Given the description of an element on the screen output the (x, y) to click on. 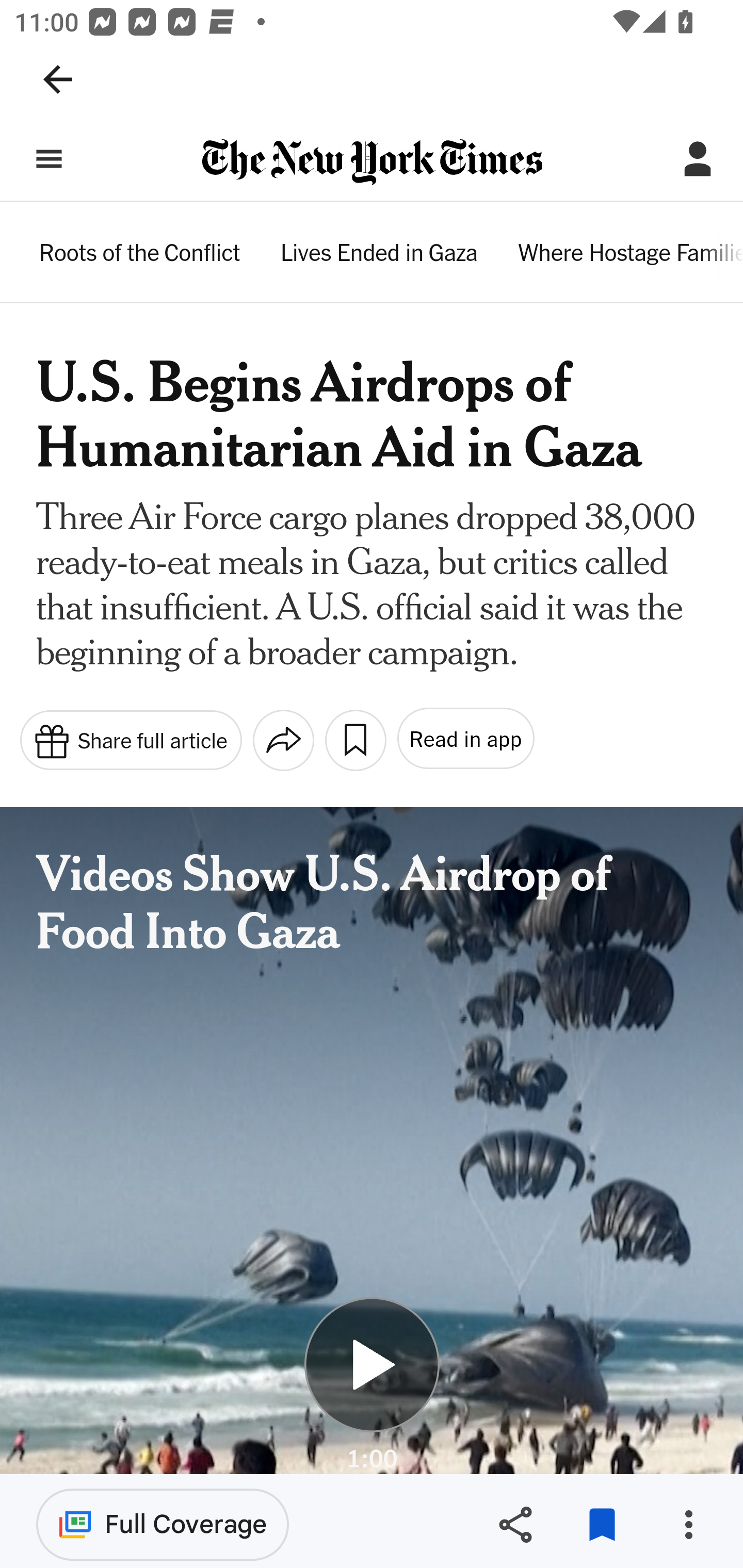
Navigate up (57, 79)
SEARCH & SECTION NAVIGATION (48, 159)
Log in (697, 159)
New York Times homepage (371, 162)
Roots of the Conflict (139, 254)
Lives Ended in Gaza (378, 254)
Where Hostage Families Gather (629, 254)
More sharing options ... (283, 740)
Save article for reading later... (355, 740)
Read in app (464, 738)
Share full article (129, 738)
Share (514, 1524)
Remove from saved stories (601, 1524)
More options (688, 1524)
Full Coverage (162, 1524)
